Given the description of an element on the screen output the (x, y) to click on. 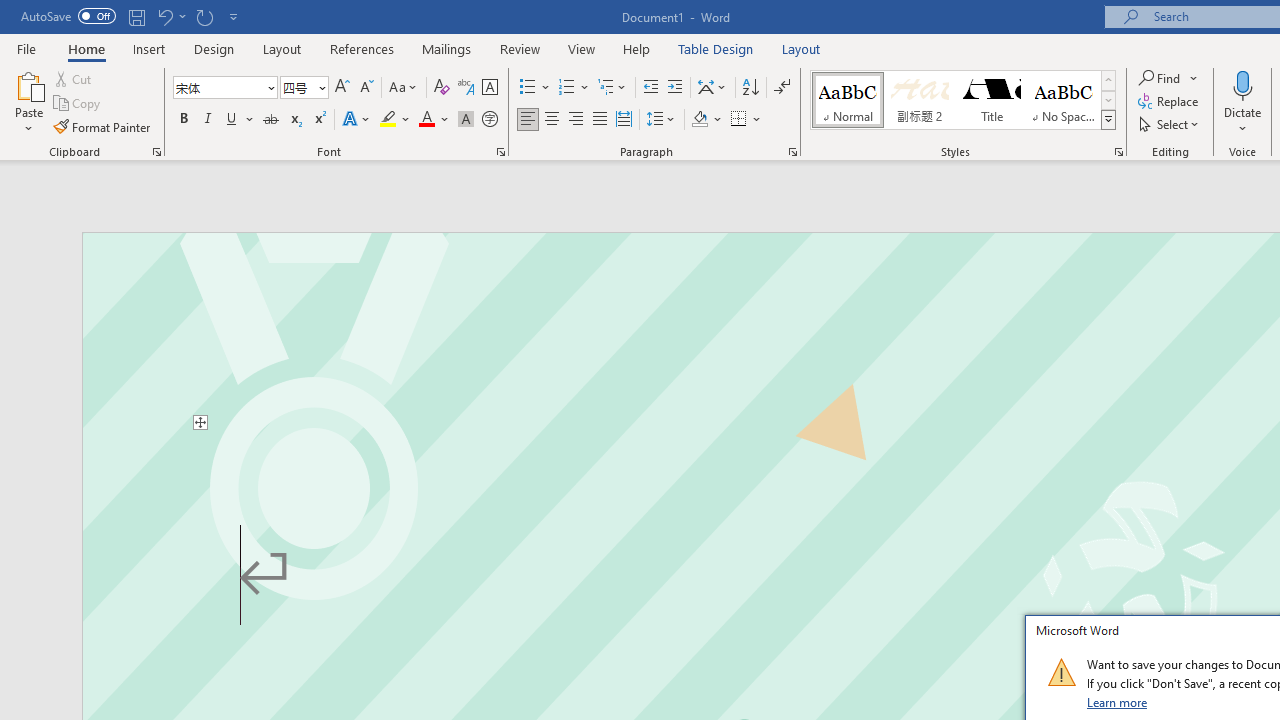
Font Color Red (426, 119)
